Given the description of an element on the screen output the (x, y) to click on. 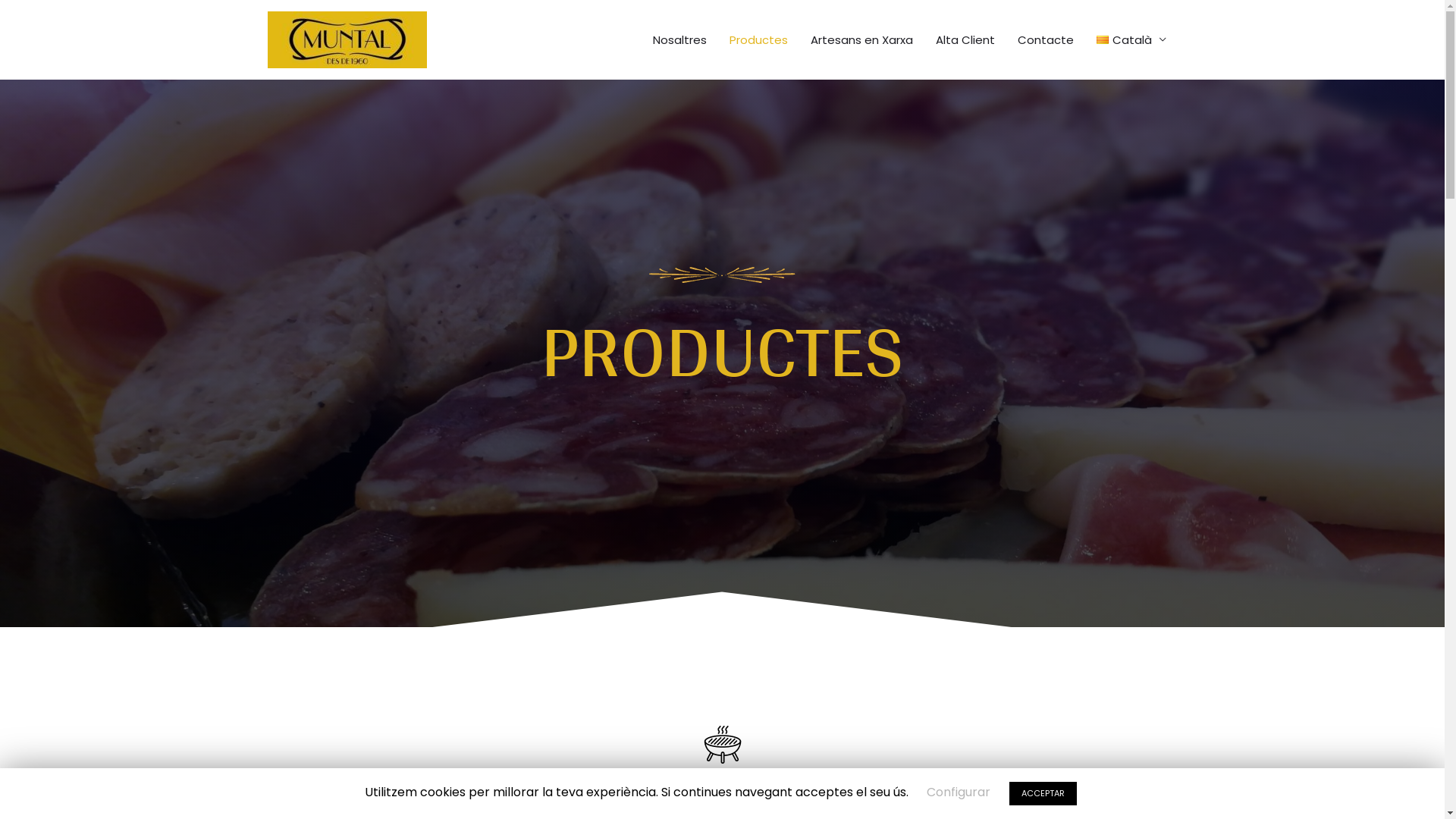
Nosaltres Element type: text (679, 39)
Productes Element type: text (758, 39)
Configurar Element type: text (958, 791)
Contacte Element type: text (1045, 39)
Alta Client Element type: text (965, 39)
ACCEPTAR Element type: text (1042, 793)
Artesans en Xarxa Element type: text (861, 39)
